Given the description of an element on the screen output the (x, y) to click on. 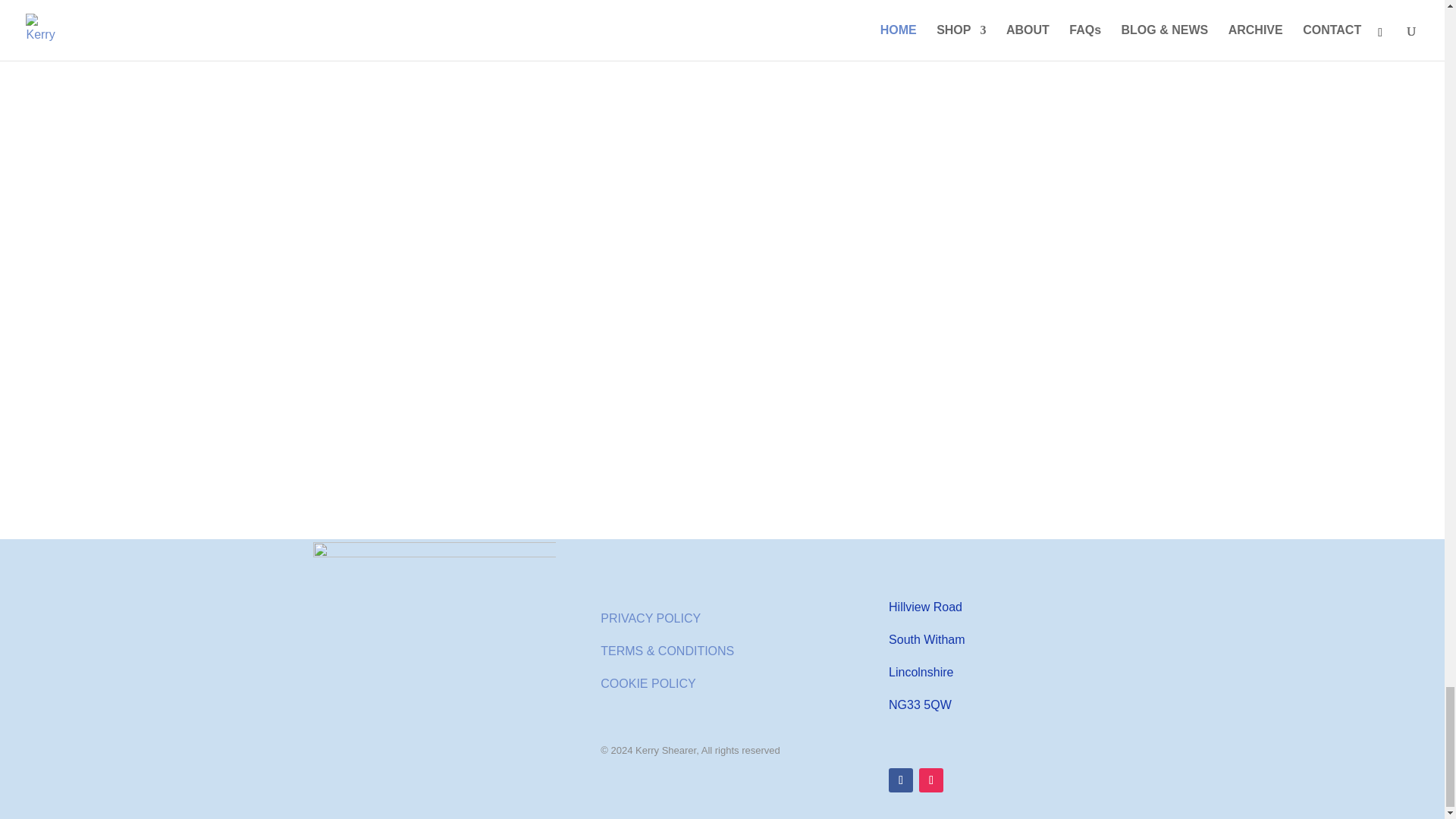
Follow on Instagram (930, 780)
Follow on Facebook (900, 780)
Beige Flower Superminimalism Curved Text Logo (433, 663)
COOKIE POLICY (647, 683)
PRIVACY POLICY (649, 617)
